Given the description of an element on the screen output the (x, y) to click on. 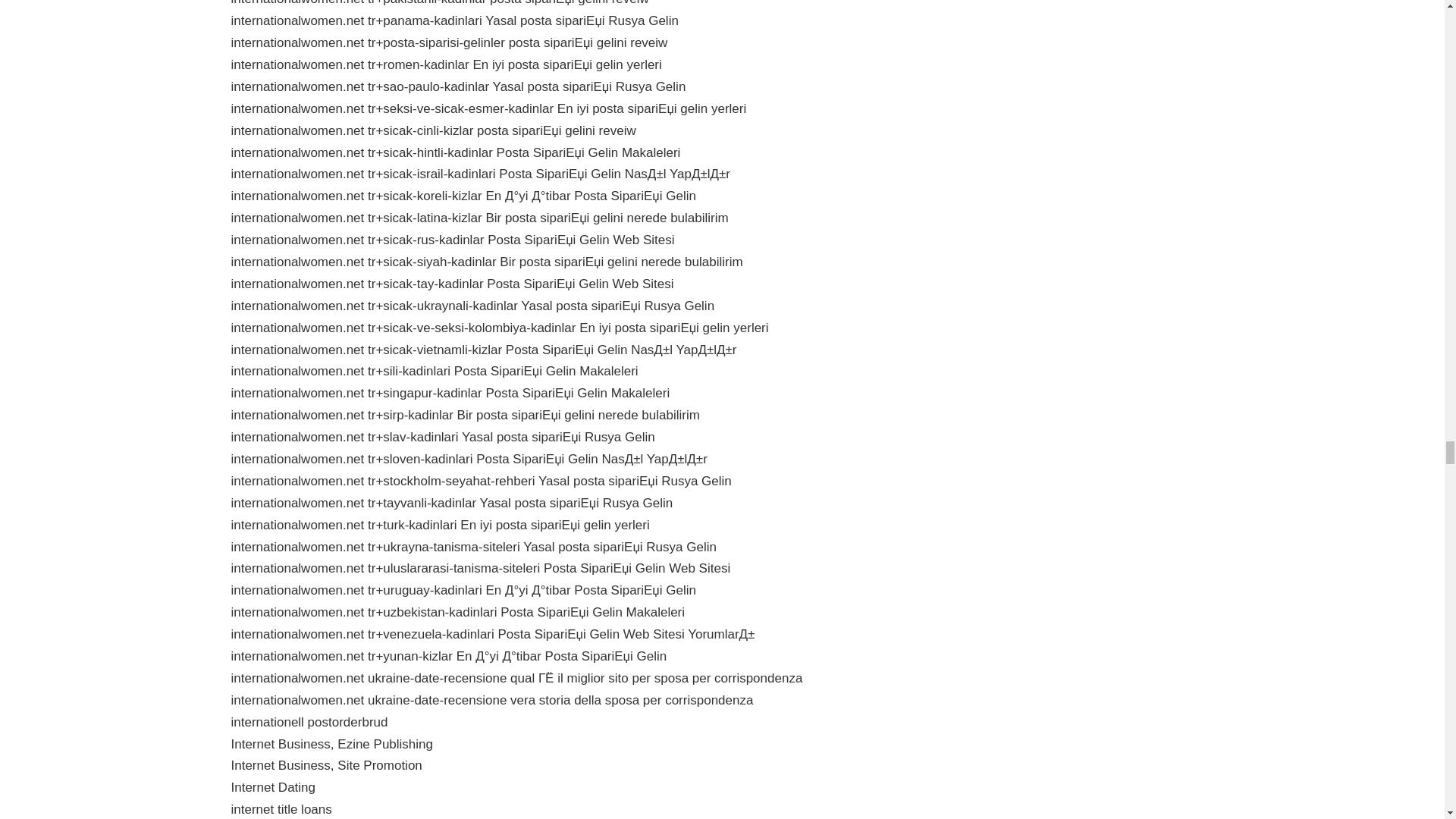
Internet Business, Site Promotion (326, 765)
Internet Business, Ezine Publishing (331, 744)
